Given the description of an element on the screen output the (x, y) to click on. 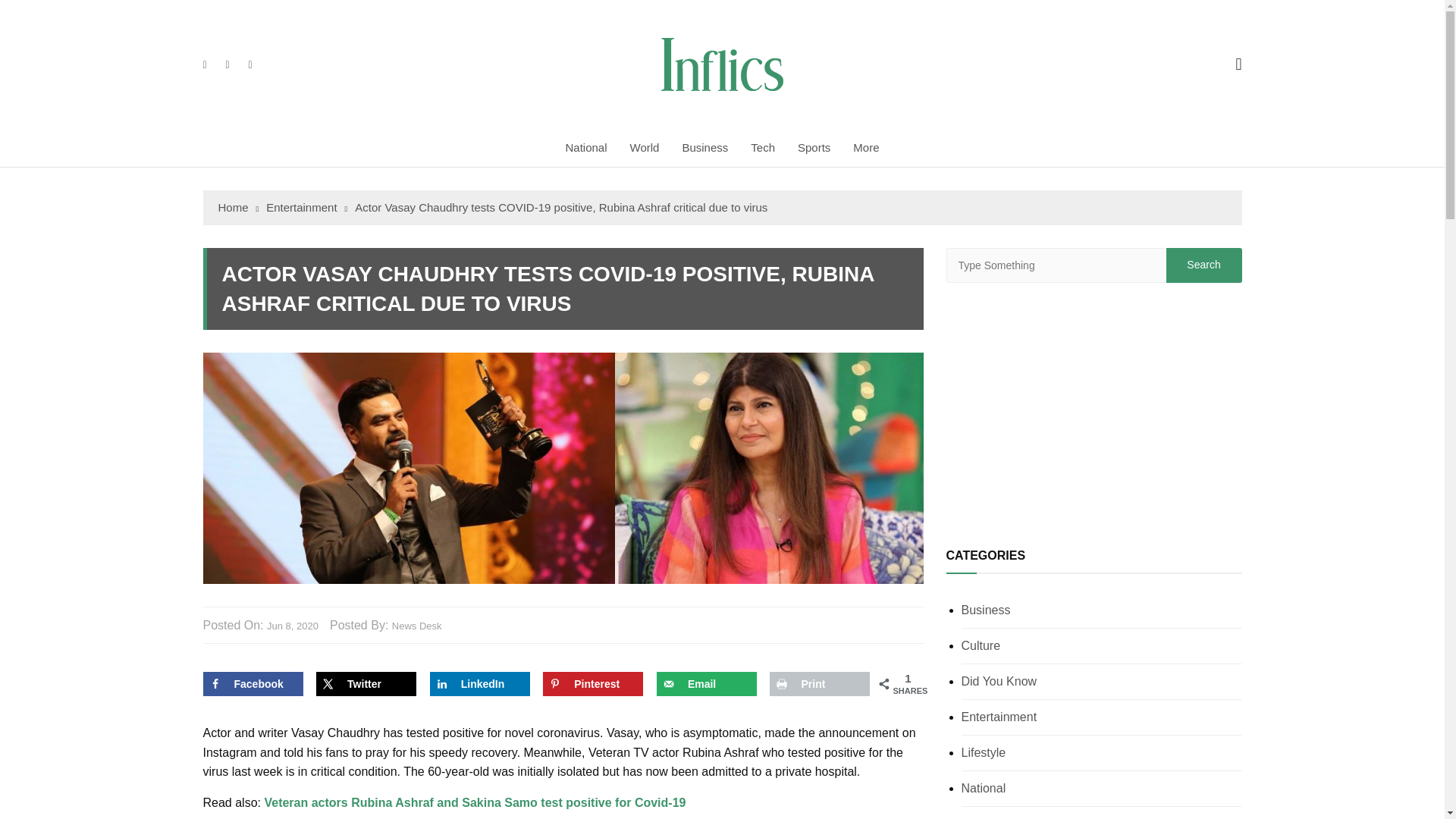
Twitter (365, 683)
Search (1203, 265)
Send over email (706, 683)
National (585, 147)
LinkedIn (479, 683)
Share on X (365, 683)
Business (704, 147)
Email (706, 683)
Entertainment (306, 208)
Save to Pinterest (593, 683)
Share on LinkedIn (479, 683)
Home (238, 208)
Jun 8, 2020 (292, 626)
